Given the description of an element on the screen output the (x, y) to click on. 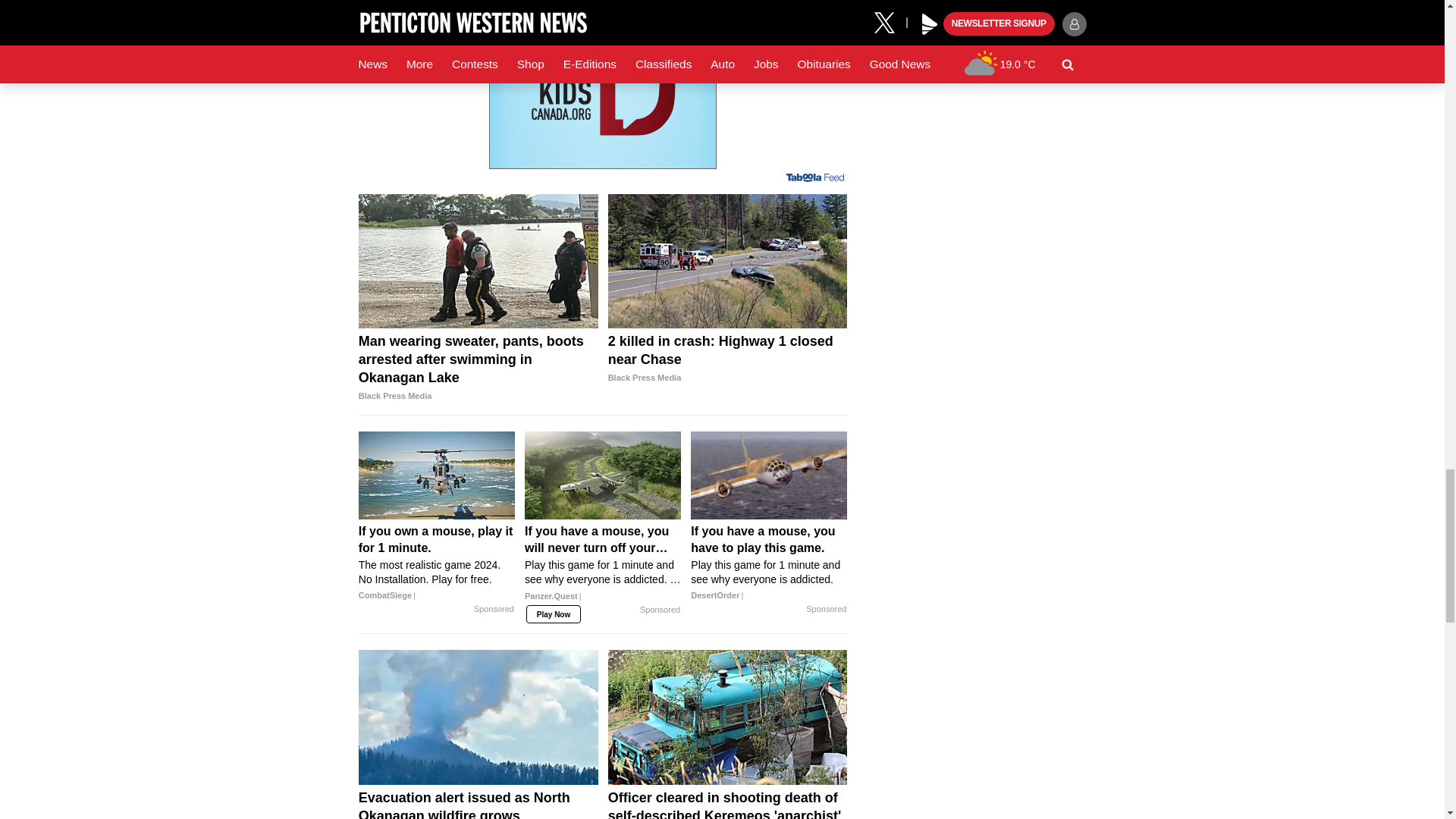
2 killed in crash: Highway 1 closed near Chase (727, 359)
3rd party ad content (602, 84)
If you own a mouse, play it for 1 minute. (436, 475)
If you own a mouse, play it for 1 minute. (436, 563)
2 killed in crash: Highway 1 closed near Chase (727, 261)
